Given the description of an element on the screen output the (x, y) to click on. 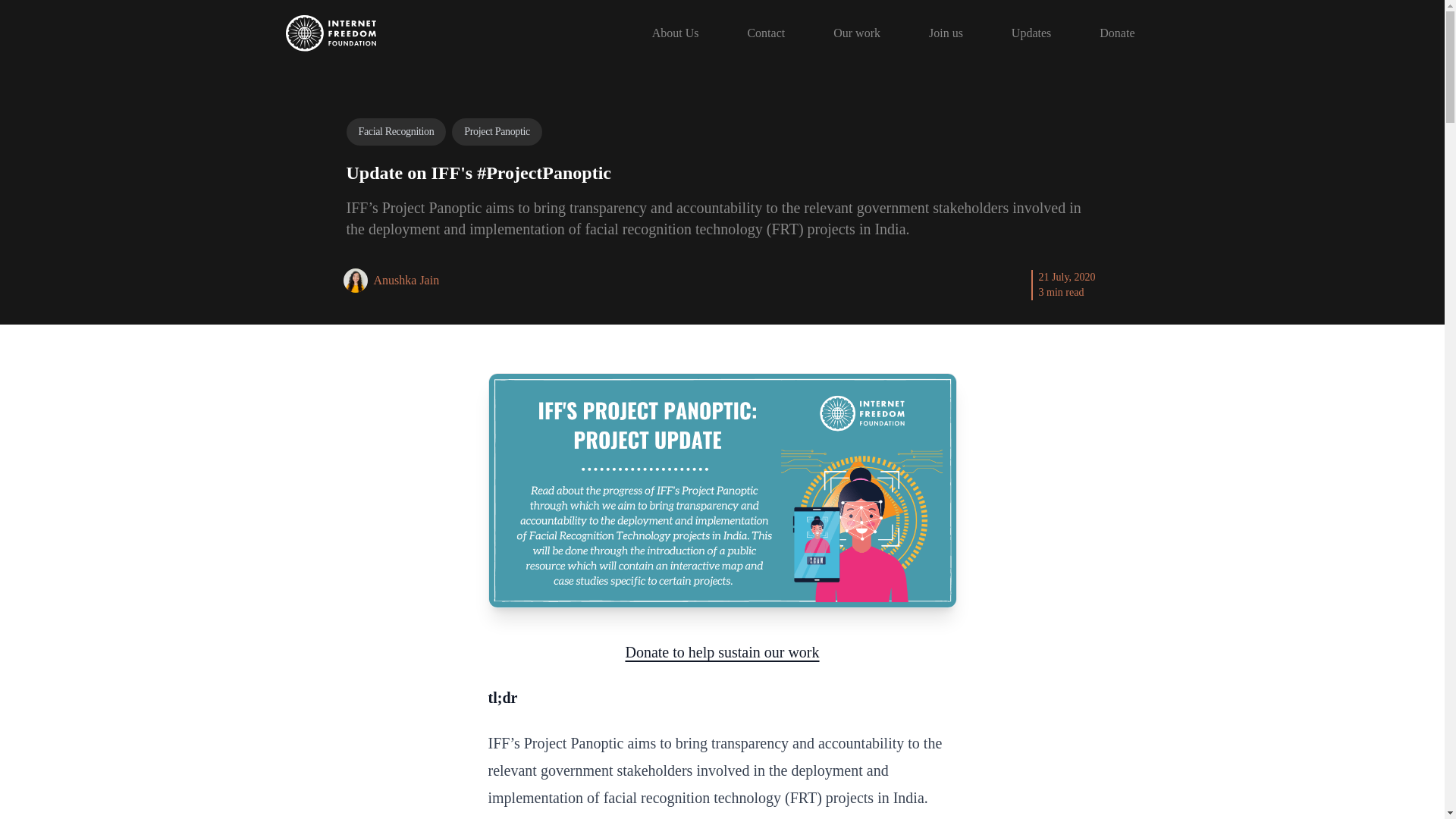
Project Panoptic (496, 131)
Join us (945, 33)
Donate to help sustain our work (721, 651)
Contact (765, 33)
Donate (1116, 33)
About Us (675, 33)
Updates (1031, 33)
Our work (856, 33)
Anushka Jain (405, 279)
Facial Recognition (395, 131)
